Given the description of an element on the screen output the (x, y) to click on. 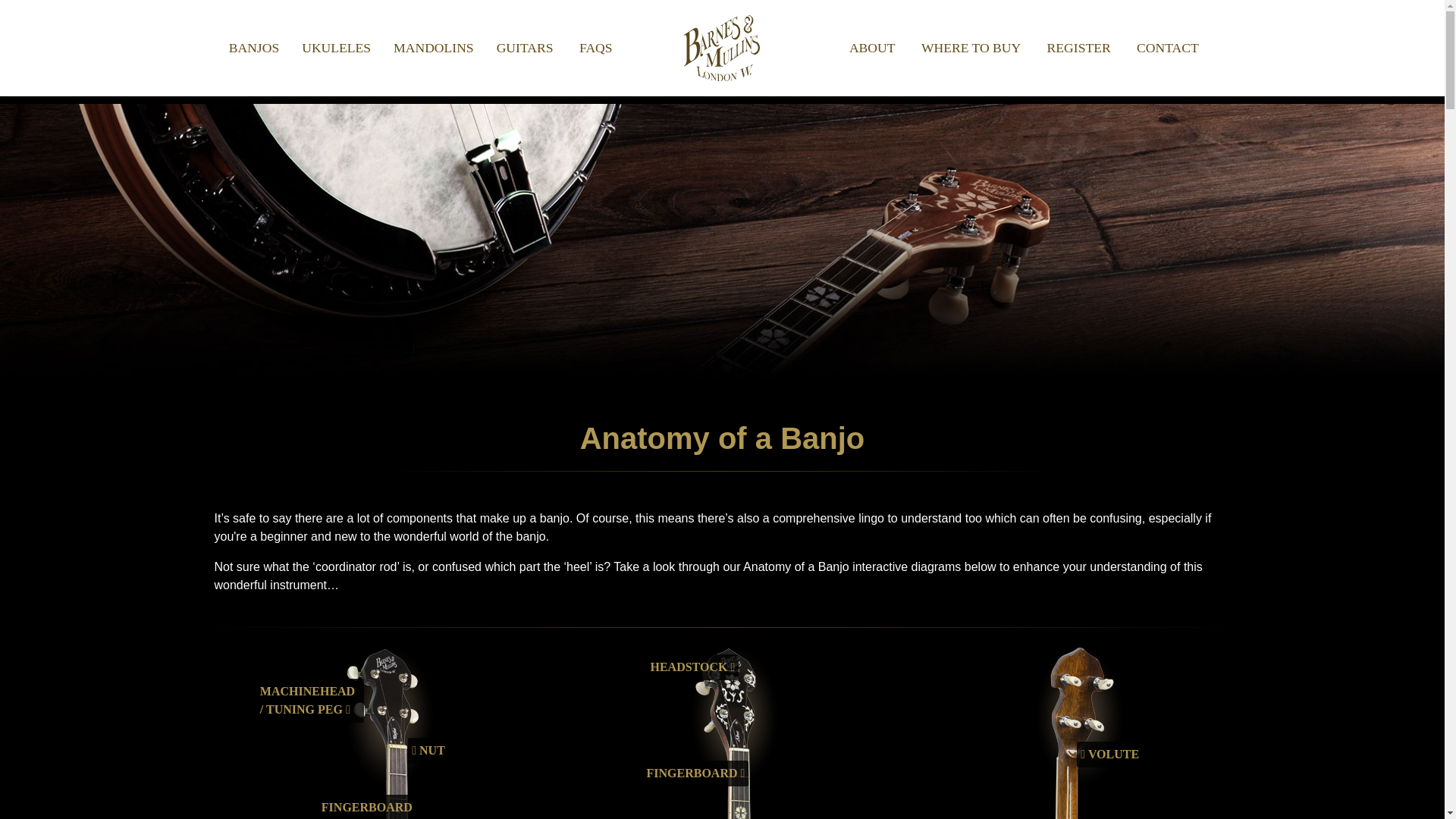
GUITARS (524, 47)
Register (1078, 47)
Instrument FAQs (595, 47)
WHERE TO BUY (971, 47)
CONTACT (1167, 47)
BANJOS (252, 47)
UKULELES (335, 47)
MANDOLINS (432, 47)
About (872, 47)
REGISTER (1078, 47)
